Given the description of an element on the screen output the (x, y) to click on. 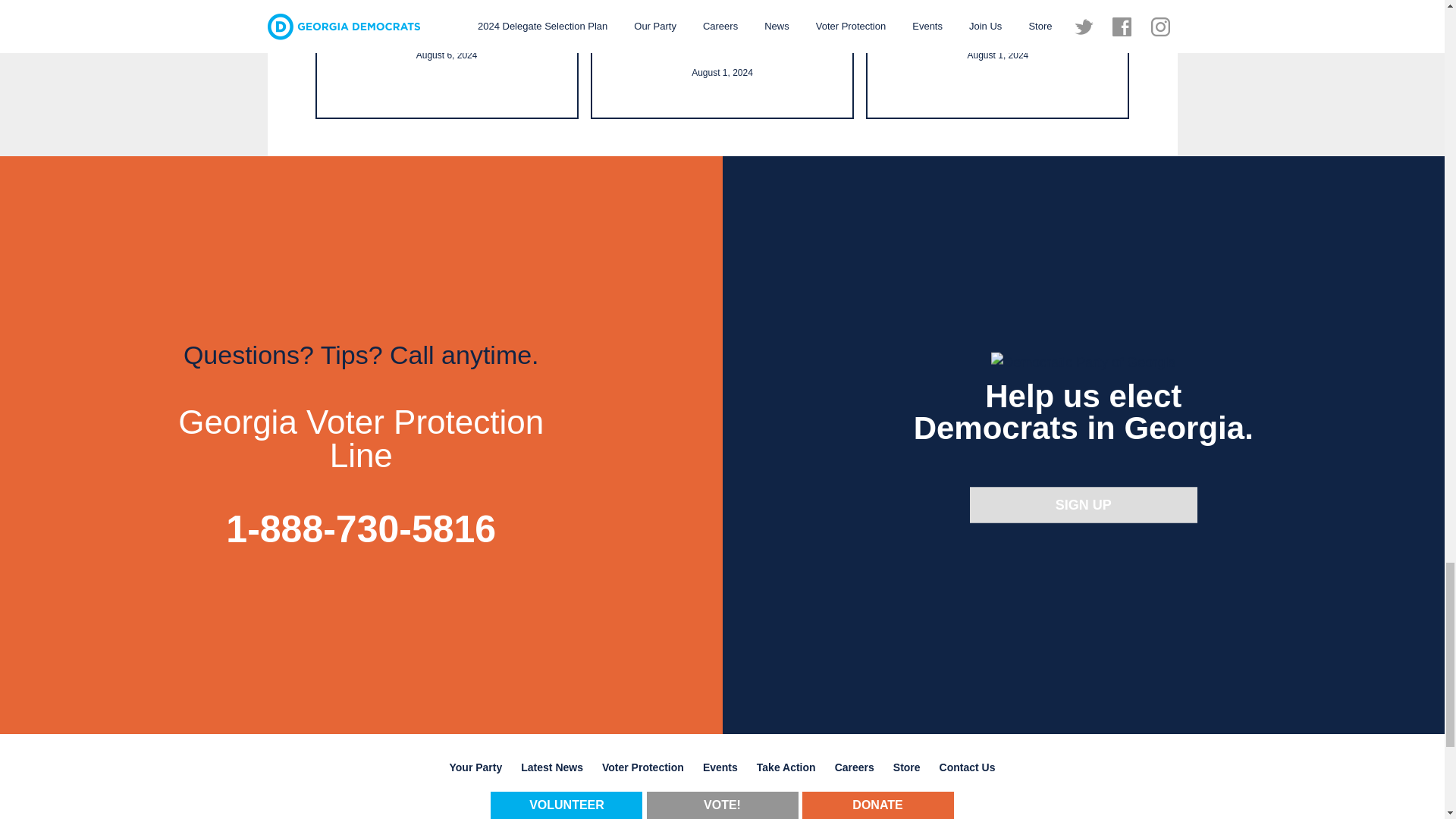
SIGN UP (1082, 504)
Your Party (475, 767)
Take Action (786, 767)
SIGN UP (1083, 504)
Events (720, 767)
Latest News (552, 767)
Careers (854, 767)
Contact Us (967, 767)
Voter Protection (642, 767)
Store (906, 767)
